Given the description of an element on the screen output the (x, y) to click on. 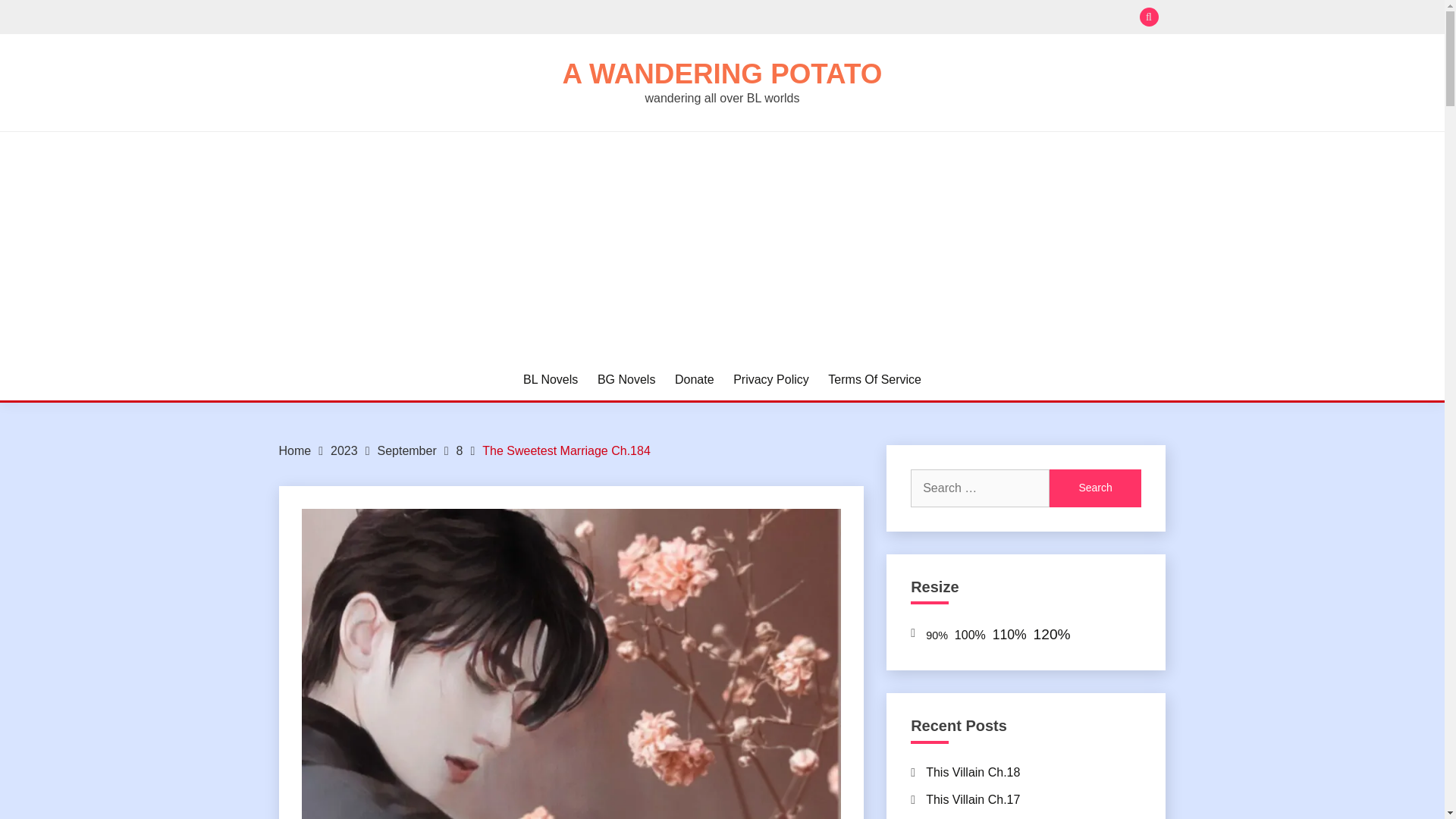
Search (1095, 487)
Search (1095, 487)
Donate (694, 380)
Terms Of Service (874, 380)
Privacy Policy (771, 380)
A WANDERING POTATO (722, 73)
BL Novels (550, 380)
2023 (344, 450)
BG Novels (625, 380)
Search (832, 18)
September (406, 450)
Home (295, 450)
The Sweetest Marriage Ch.184 (565, 450)
